Given the description of an element on the screen output the (x, y) to click on. 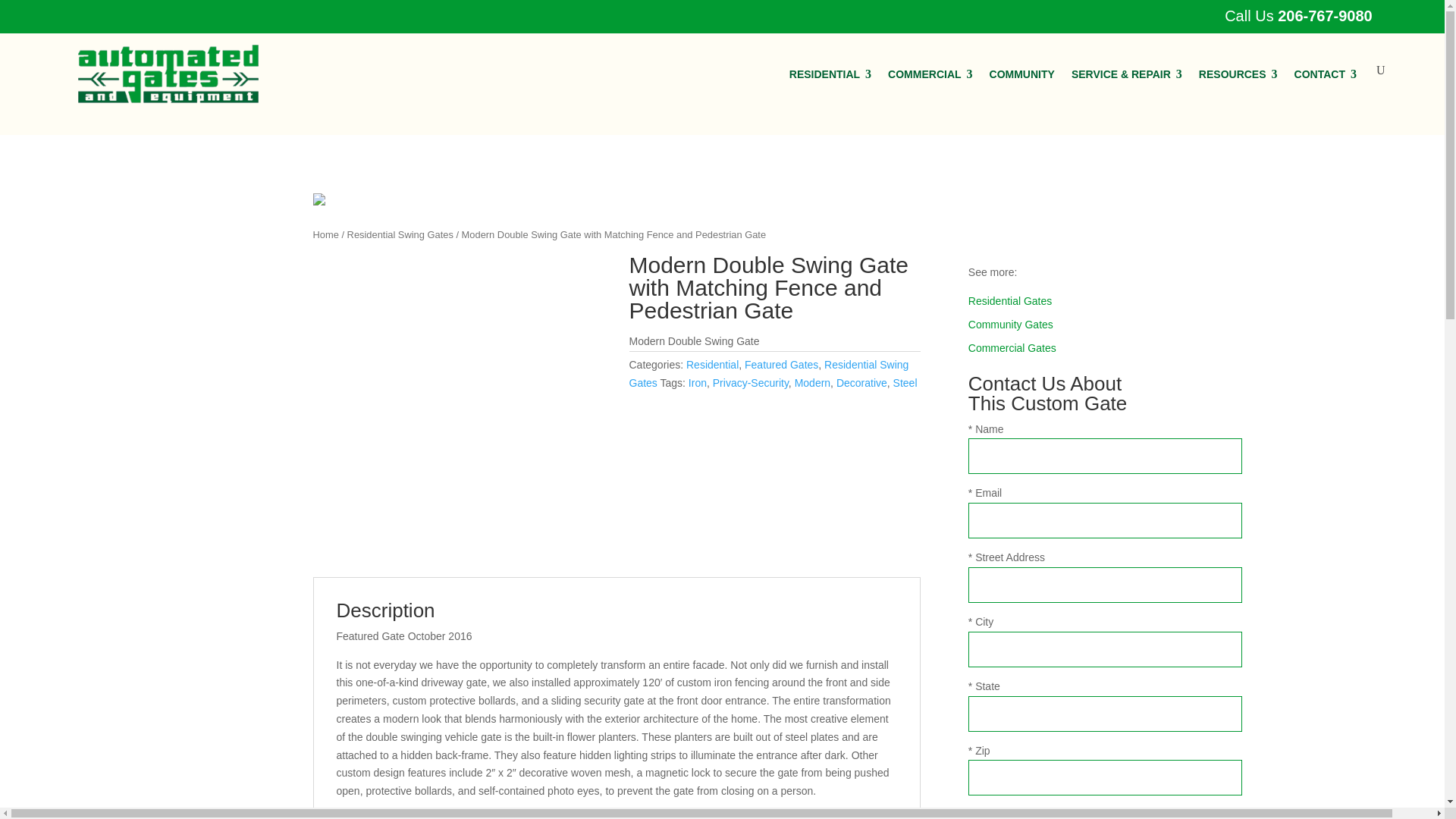
RESIDENTIAL (829, 74)
COMMERCIAL (930, 74)
Residential Swing Gates (399, 234)
Home (325, 234)
RESOURCES (1238, 74)
206-767-9080 (1325, 15)
